Given the description of an element on the screen output the (x, y) to click on. 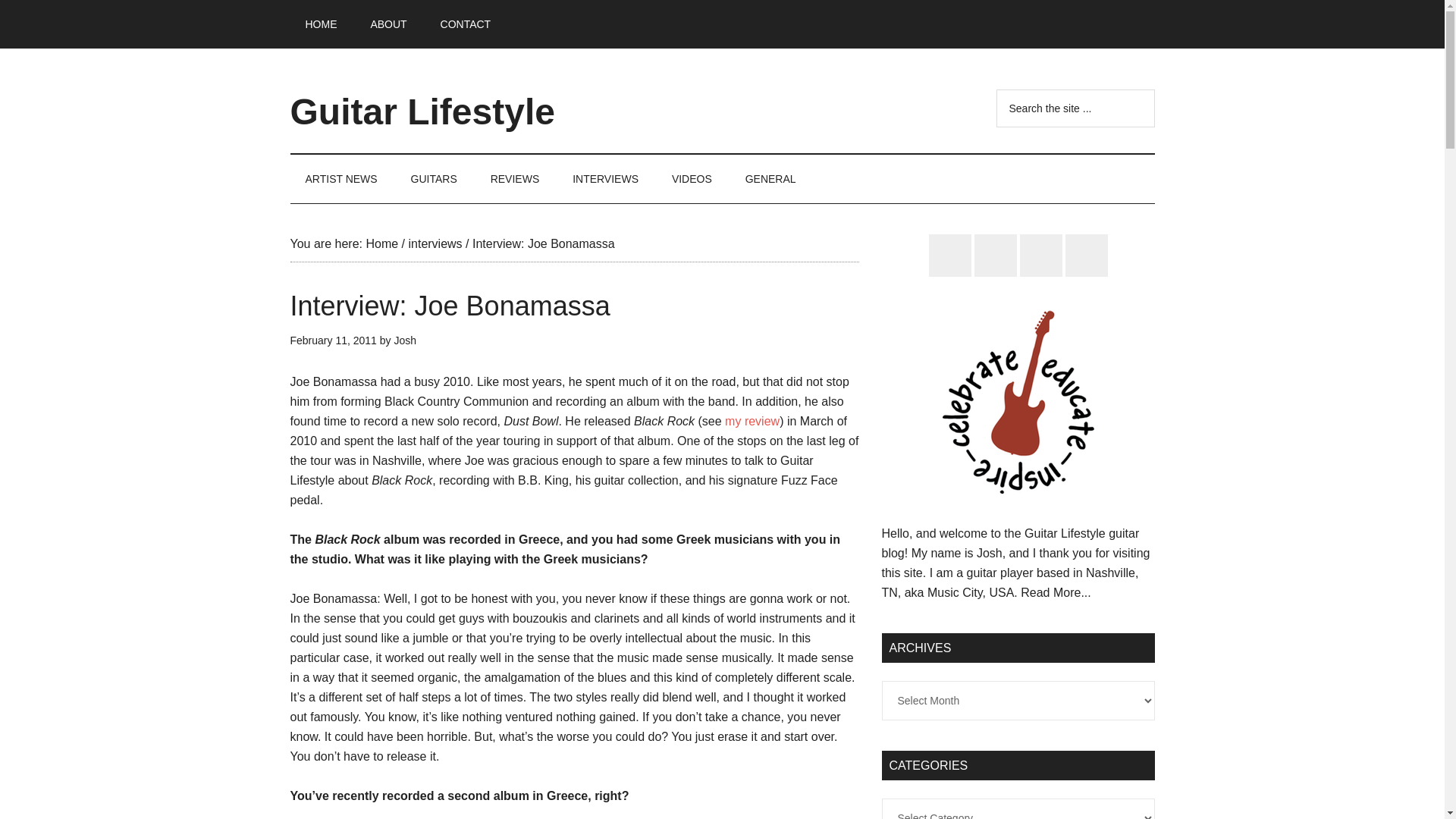
ABOUT (388, 24)
Home (381, 243)
REVIEWS (515, 178)
HOME (320, 24)
Read More... (1055, 592)
CONTACT (465, 24)
interviews (434, 243)
INTERVIEWS (605, 178)
Black Rock Review (751, 420)
